Given the description of an element on the screen output the (x, y) to click on. 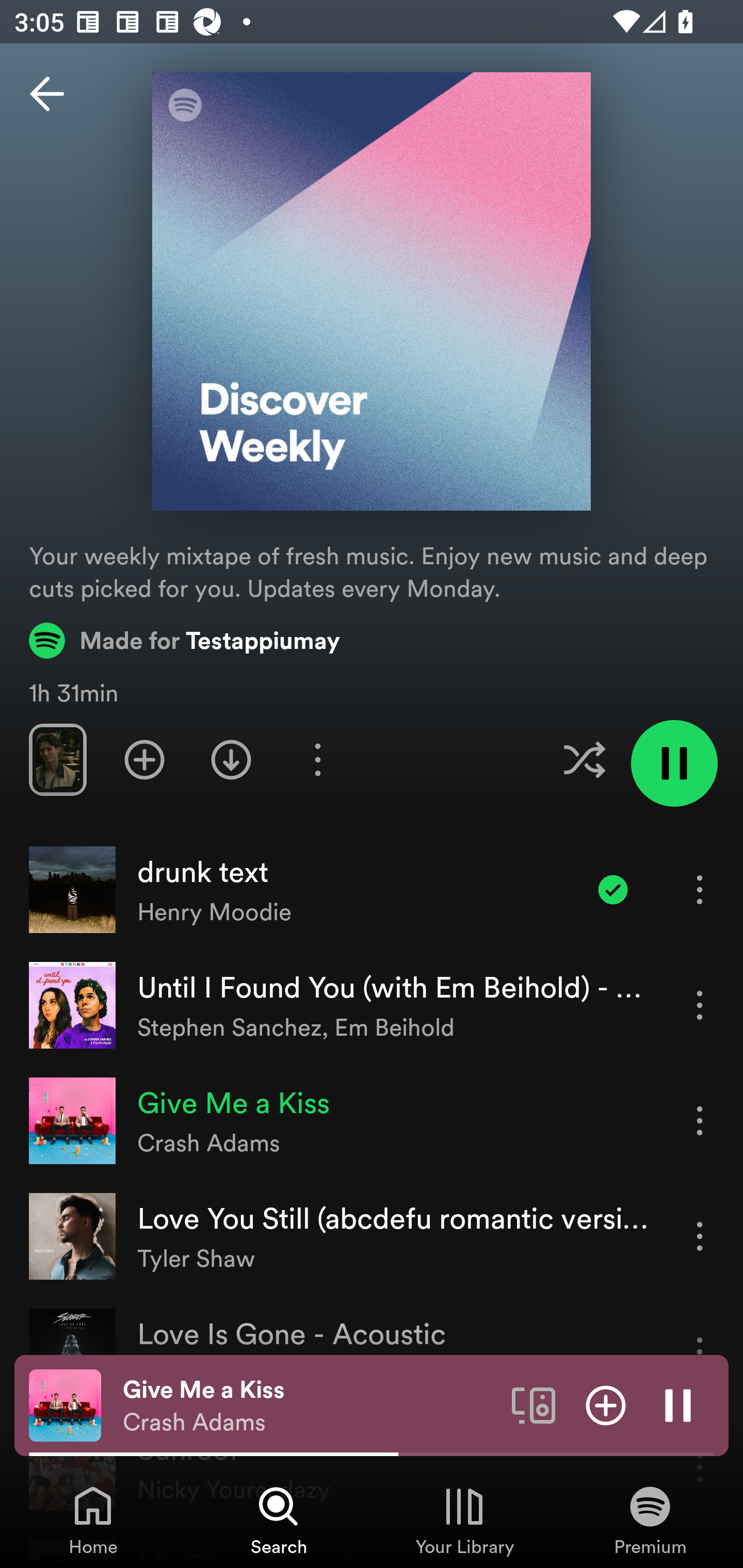
Back (46, 93)
Made for Testappiumay (184, 640)
Swipe through previews of tracks in this playlist. (57, 759)
Add playlist to Your Library (144, 759)
Download (230, 759)
More options for playlist Discover Weekly (317, 759)
Enable shuffle for this playlist (583, 759)
Pause playlist (674, 763)
Item added (612, 889)
More options for song drunk text (699, 889)
More options for song Give Me a Kiss (699, 1120)
Give Me a Kiss Crash Adams (309, 1405)
